Given the description of an element on the screen output the (x, y) to click on. 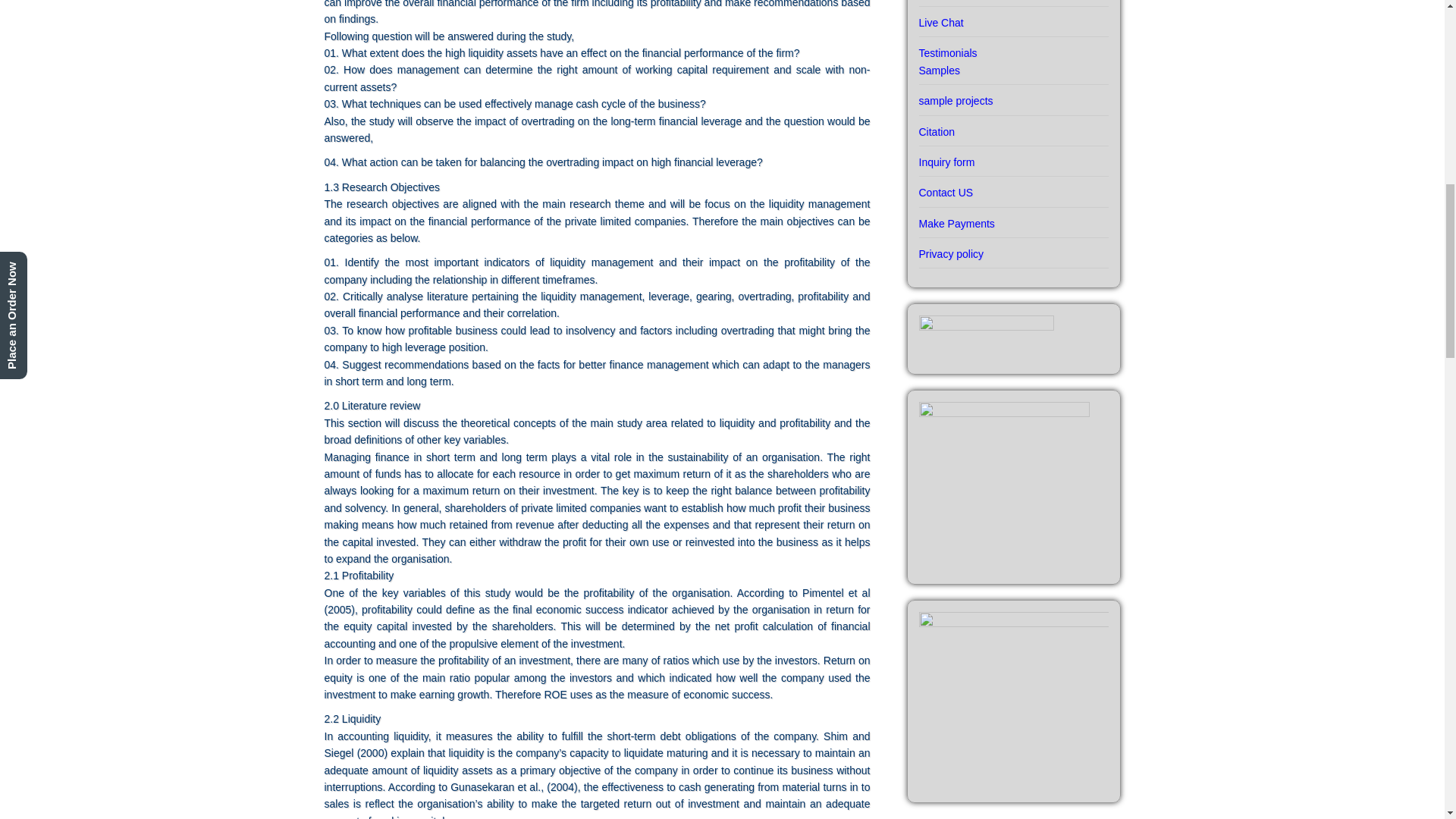
Testimonials (1013, 47)
Privacy policy (1013, 252)
Inquiry form (1013, 156)
Live Chat (1013, 16)
Make Payments (1013, 218)
Contact US (1013, 187)
